Given the description of an element on the screen output the (x, y) to click on. 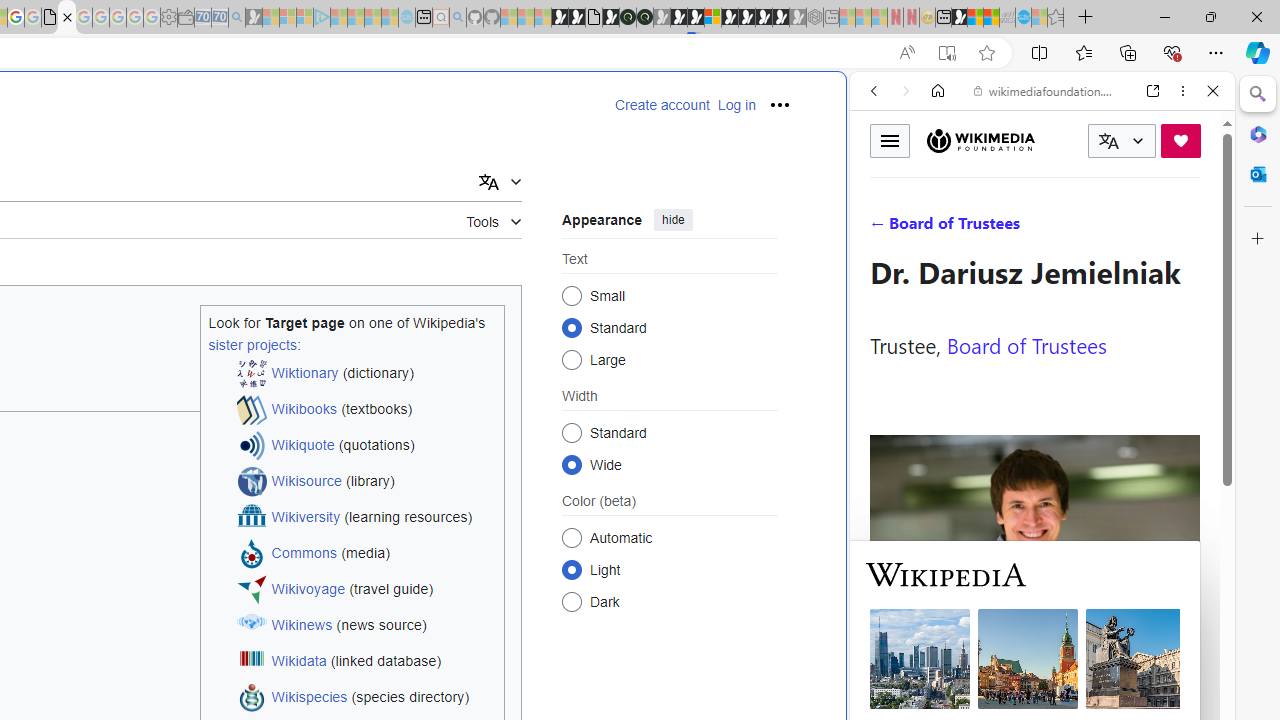
Wikiquote (quotations) (366, 446)
Wikimedia Foundation (980, 140)
This site scope (936, 180)
Large (571, 359)
Services - Maintenance | Sky Blue Bikes - Sky Blue Bikes (1023, 17)
Wikispecies (309, 697)
wikimediafoundation.org (1045, 90)
Commons (media) (366, 554)
Search or enter web address (343, 191)
Home | Sky Blue Bikes - Sky Blue Bikes (687, 426)
Web scope (882, 180)
Class: mw-list-item mw-list-item-js (669, 569)
